Given the description of an element on the screen output the (x, y) to click on. 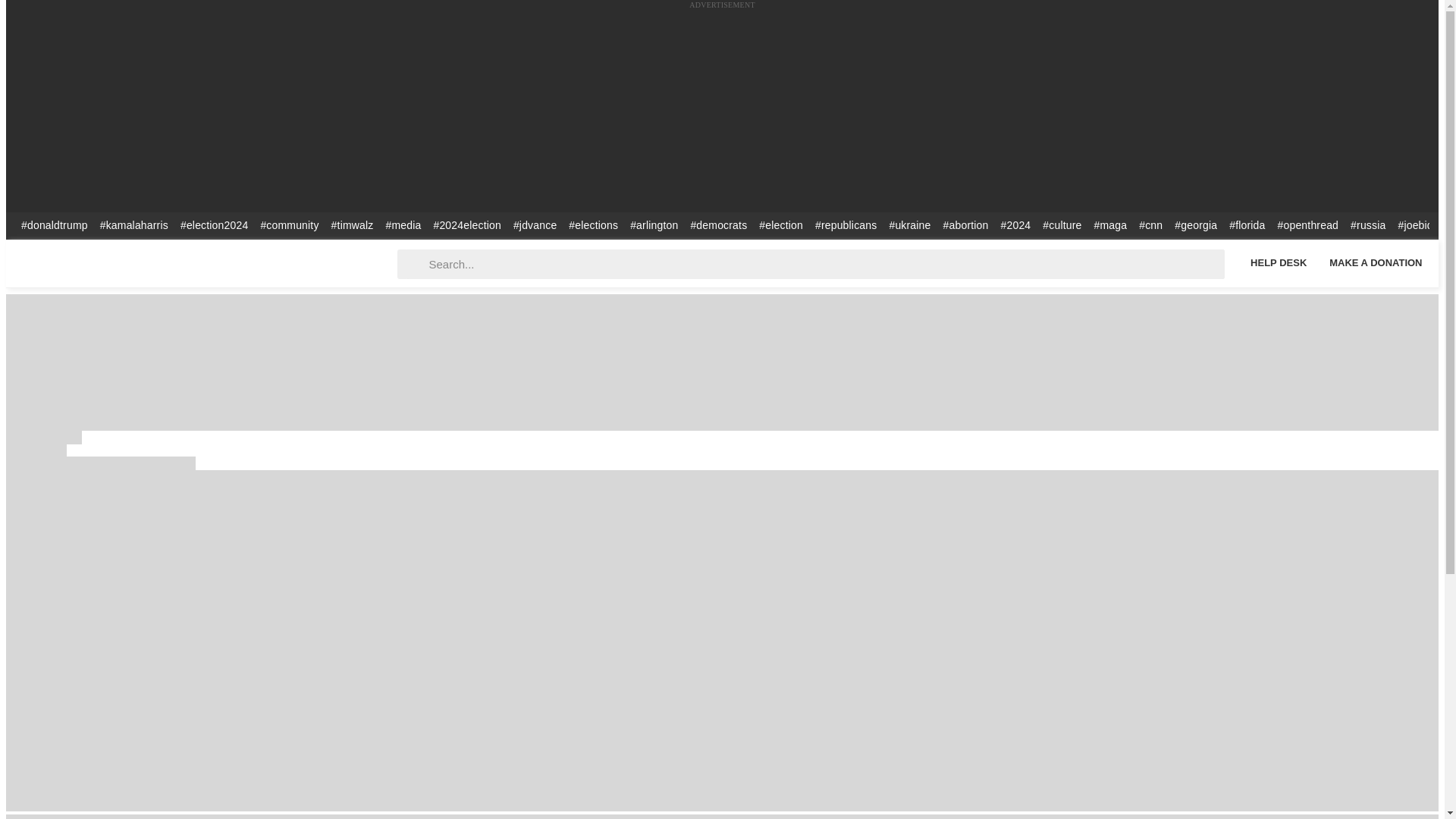
Help Desk (1277, 262)
Make a Donation (1375, 262)
MAKE A DONATION (1375, 262)
